Given the description of an element on the screen output the (x, y) to click on. 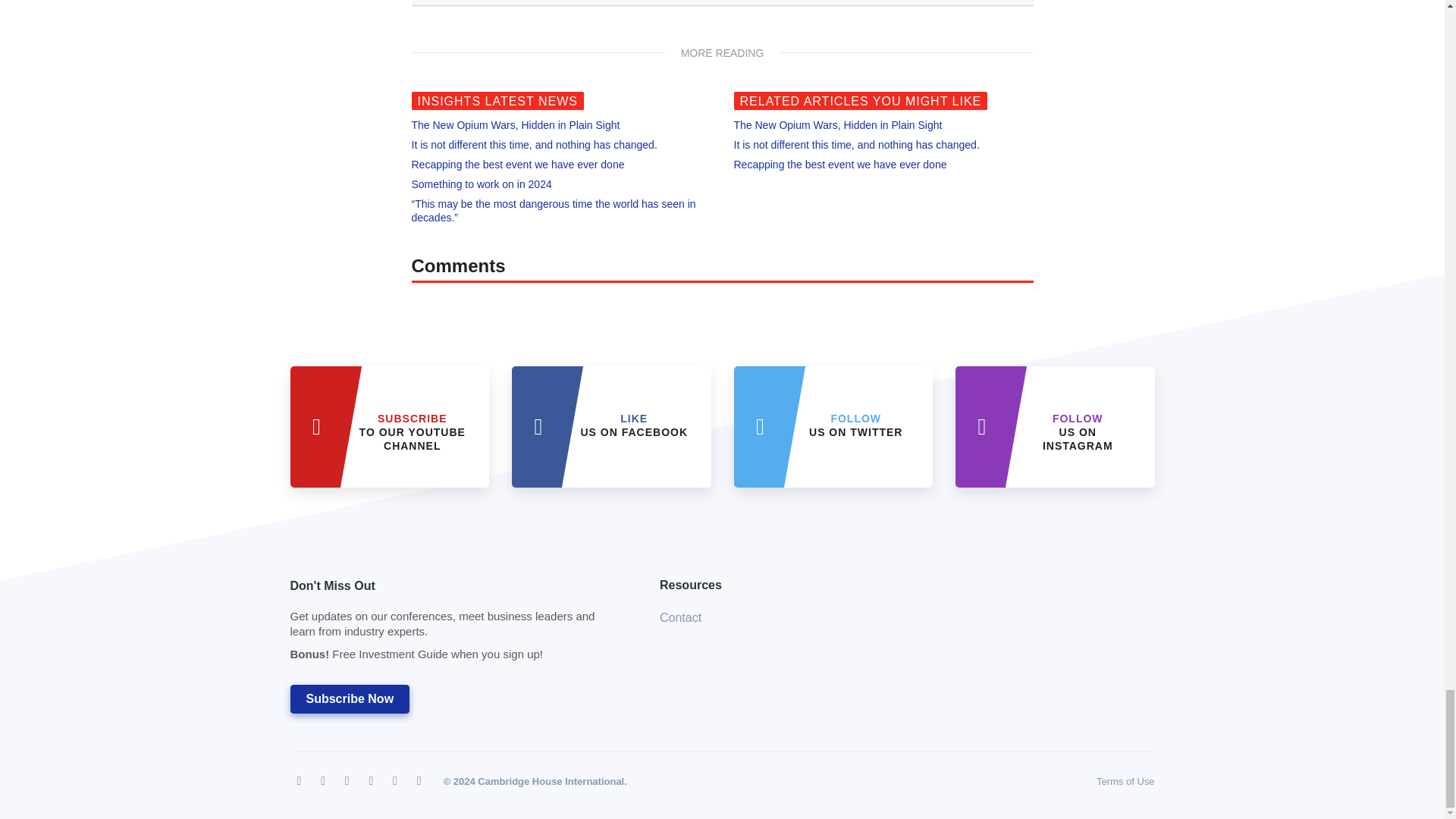
It is not different this time, and nothing has changed. (412, 432)
The New Opium Wars, Hidden in Plain Sight (856, 144)
Subscribe Now (515, 124)
Recapping the best event we have ever done (1077, 432)
Recapping the best event we have ever done (855, 425)
Contact (349, 698)
